Given the description of an element on the screen output the (x, y) to click on. 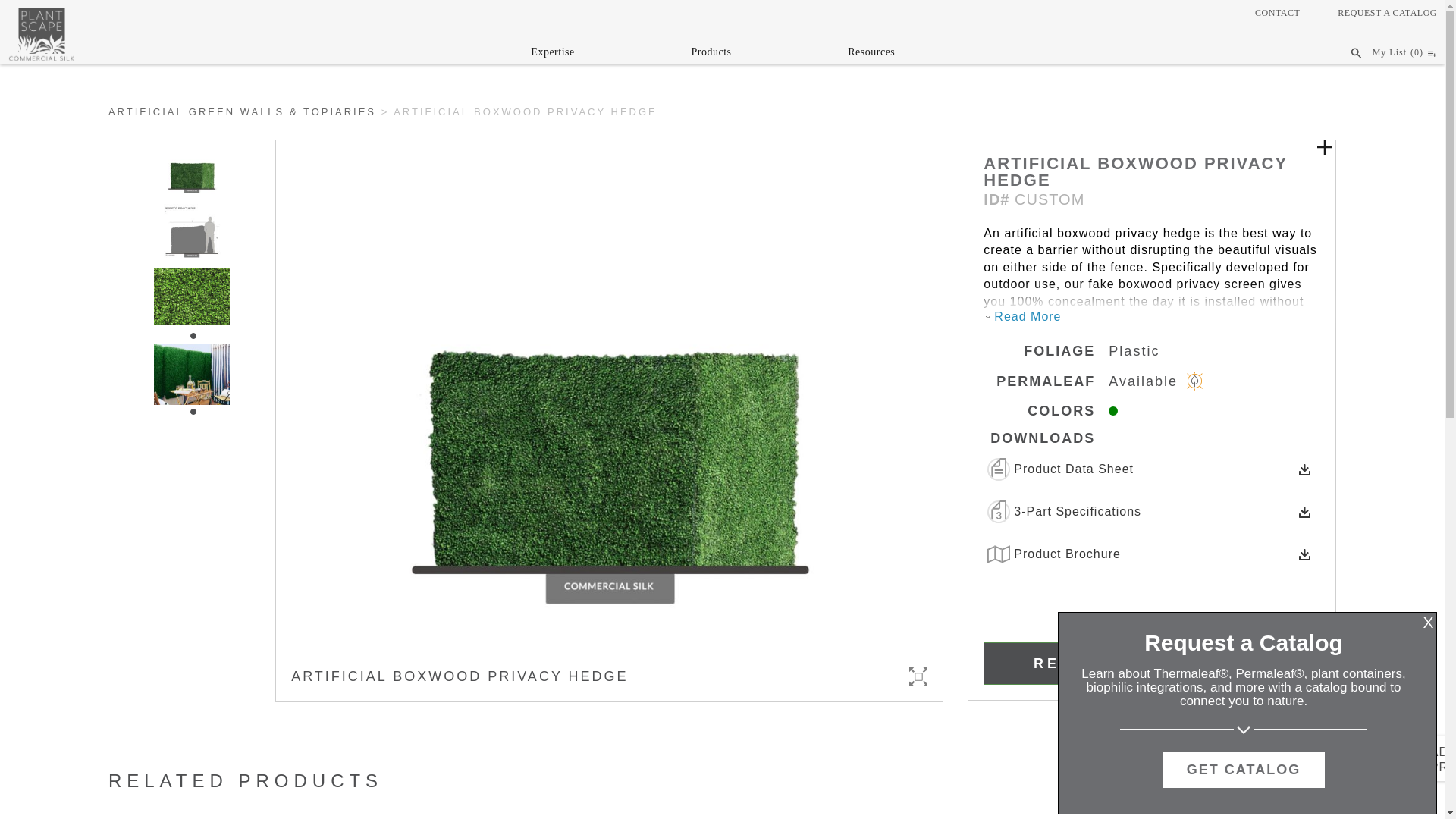
CONTACT (1277, 12)
REQUEST A CATALOG (1387, 12)
Products (710, 54)
Resources (871, 54)
Expertise (552, 54)
